Given the description of an element on the screen output the (x, y) to click on. 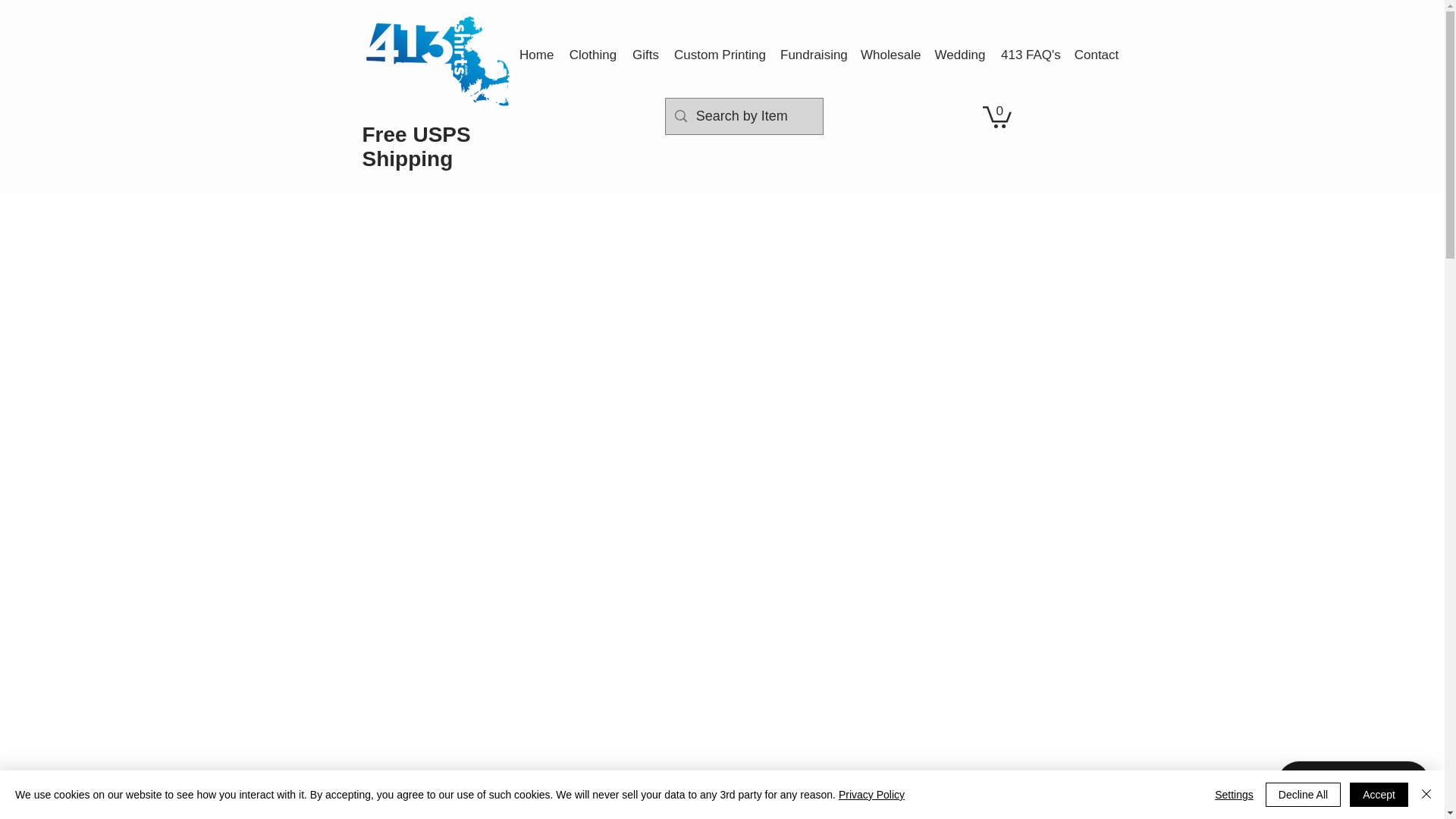
0 (996, 115)
Embedded Content (1005, 159)
Custom Printing (719, 54)
0 (996, 115)
Contact (1095, 54)
413 FAQ's (1028, 54)
Wedding (959, 54)
Wholesale (889, 54)
Fundraising (813, 54)
